Given the description of an element on the screen output the (x, y) to click on. 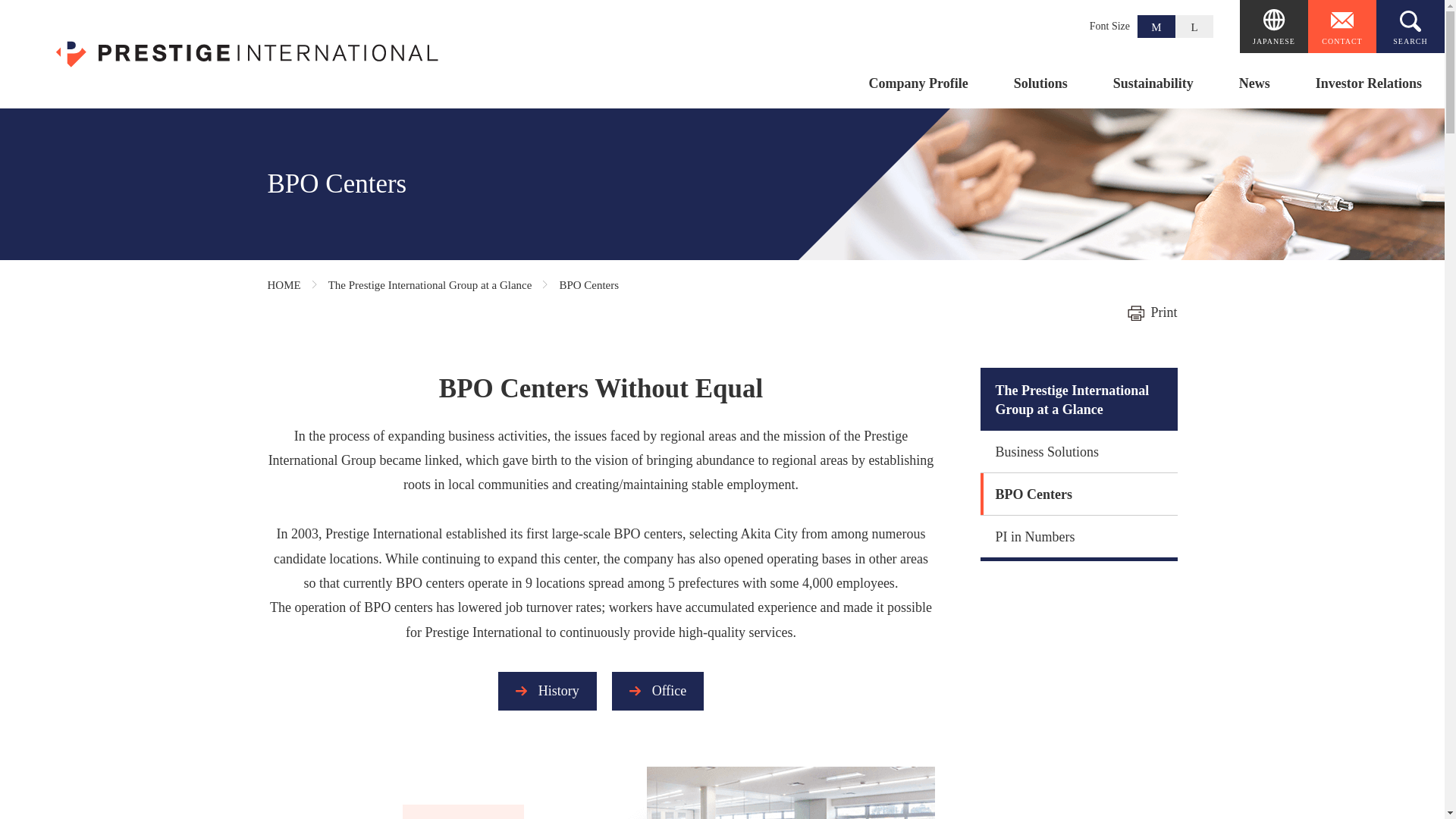
Solutions (1040, 92)
JAPANESE (1273, 26)
CONTACT (1341, 26)
Company Profile (918, 92)
